Given the description of an element on the screen output the (x, y) to click on. 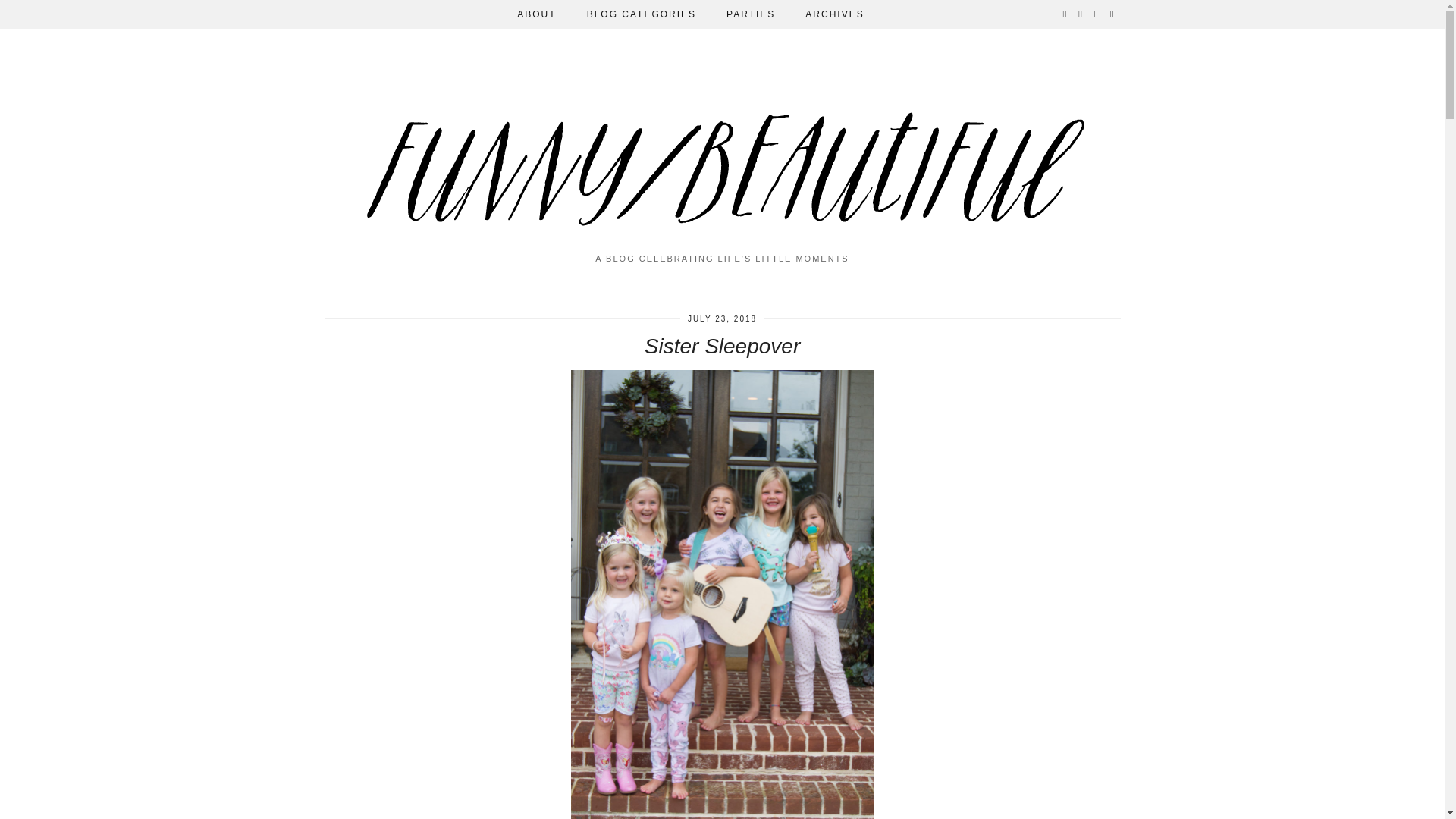
ABOUT (536, 14)
Facebook (1096, 14)
PARTIES (750, 14)
BLOG CATEGORIES (641, 14)
Email (1112, 14)
ARCHIVES (834, 14)
Pinterest (1080, 14)
Instagram (1065, 14)
